Given the description of an element on the screen output the (x, y) to click on. 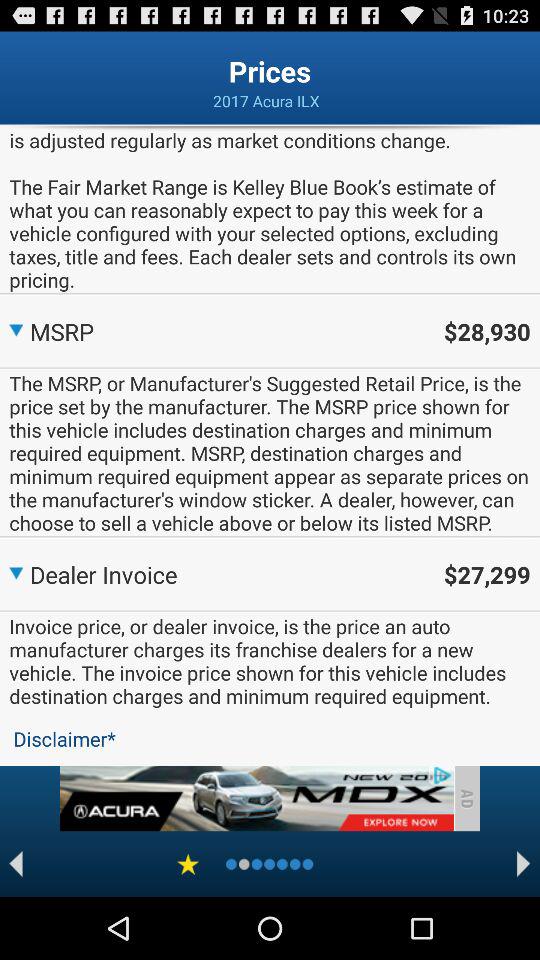
go to next listing (523, 864)
